Given the description of an element on the screen output the (x, y) to click on. 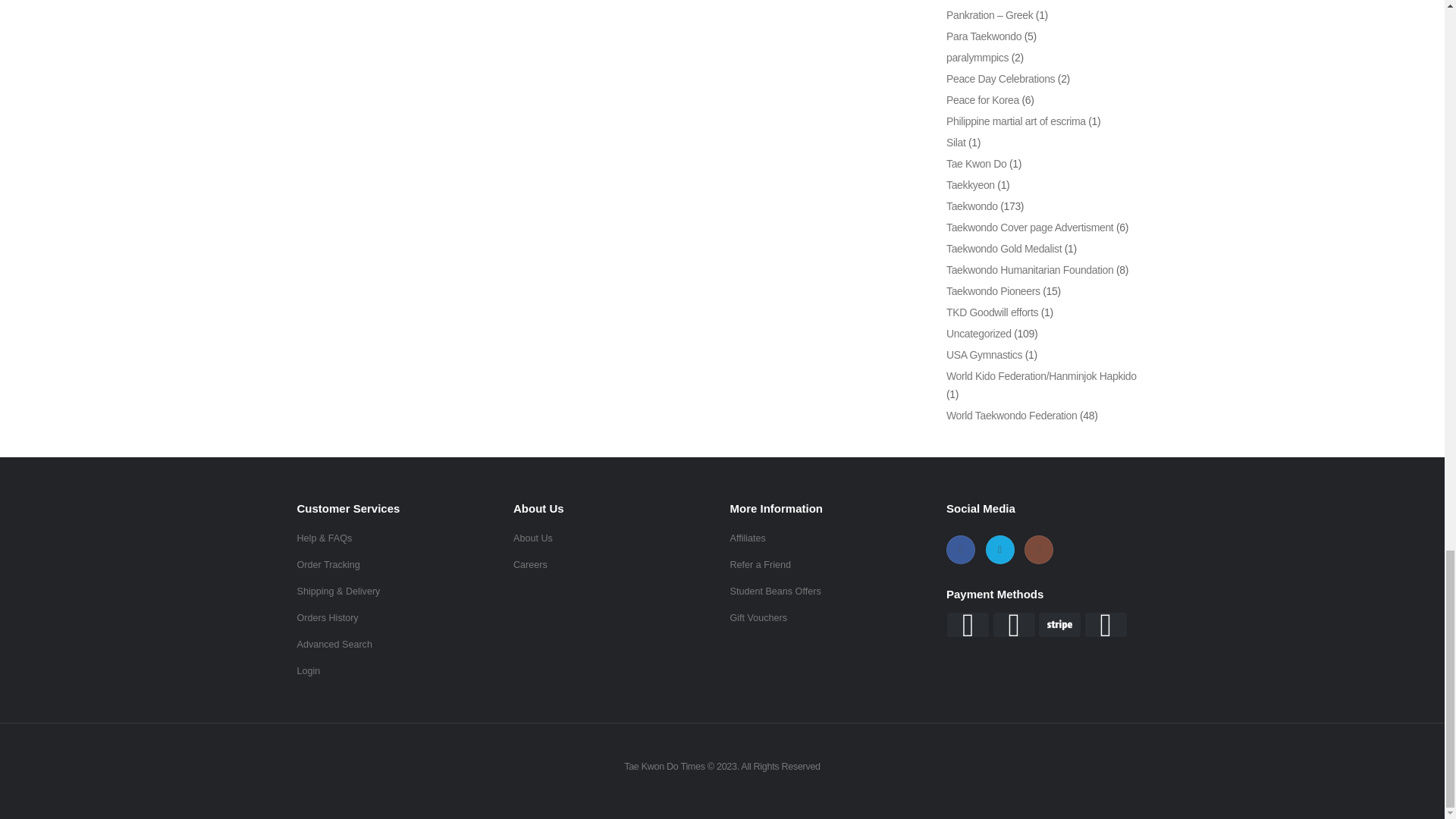
Instagram (1038, 549)
Twitter (999, 549)
Facebook (960, 549)
